Given the description of an element on the screen output the (x, y) to click on. 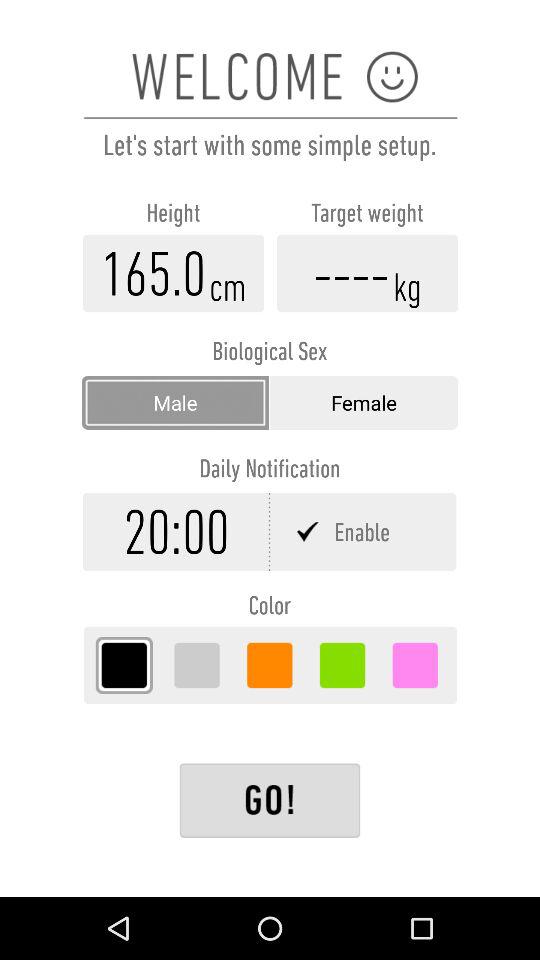
select color (269, 665)
